Given the description of an element on the screen output the (x, y) to click on. 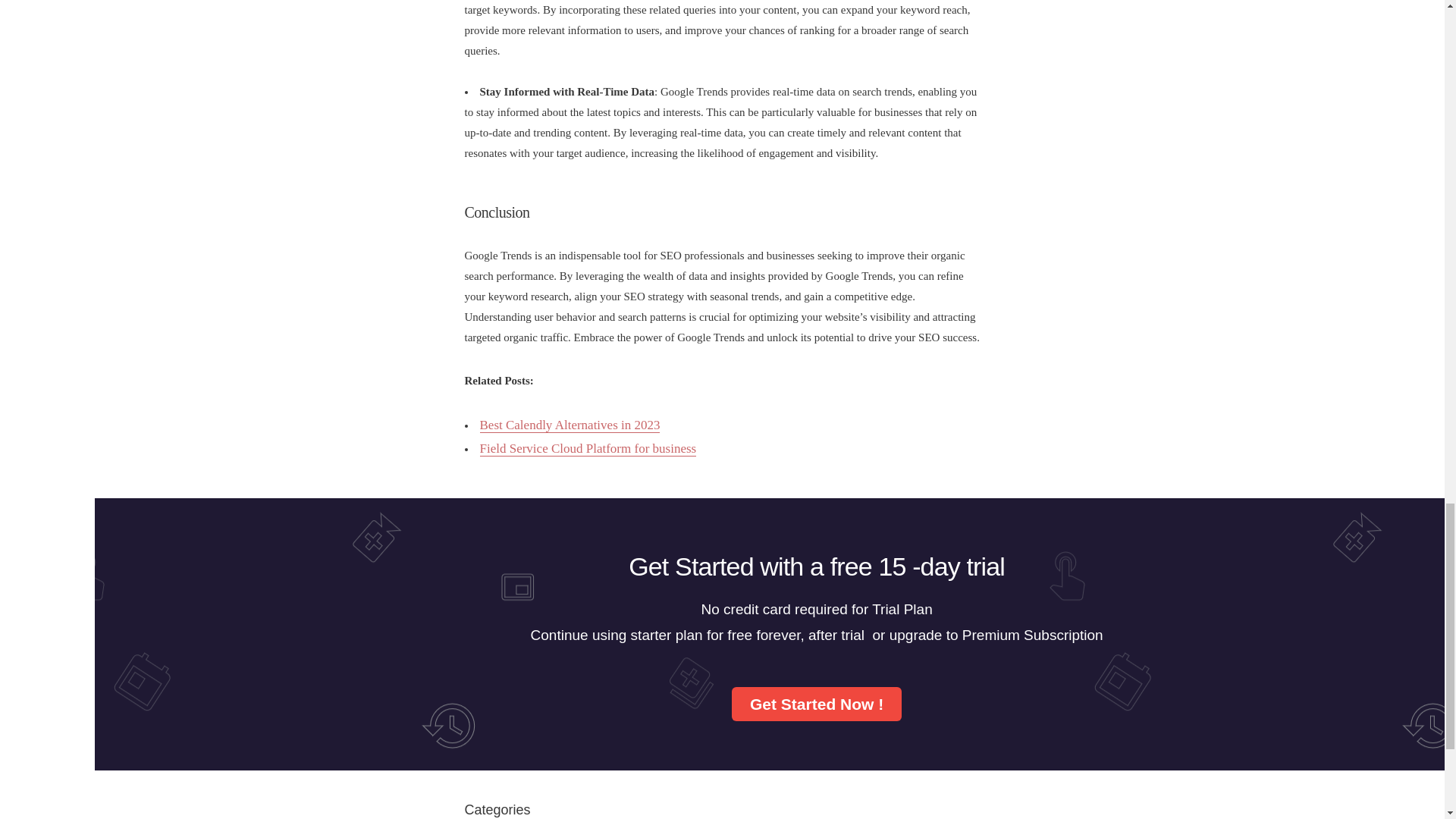
Best Calendly Alternatives in 2023 (569, 425)
Field Service Cloud Platform for business (587, 448)
Get Started Now ! (816, 704)
